Given the description of an element on the screen output the (x, y) to click on. 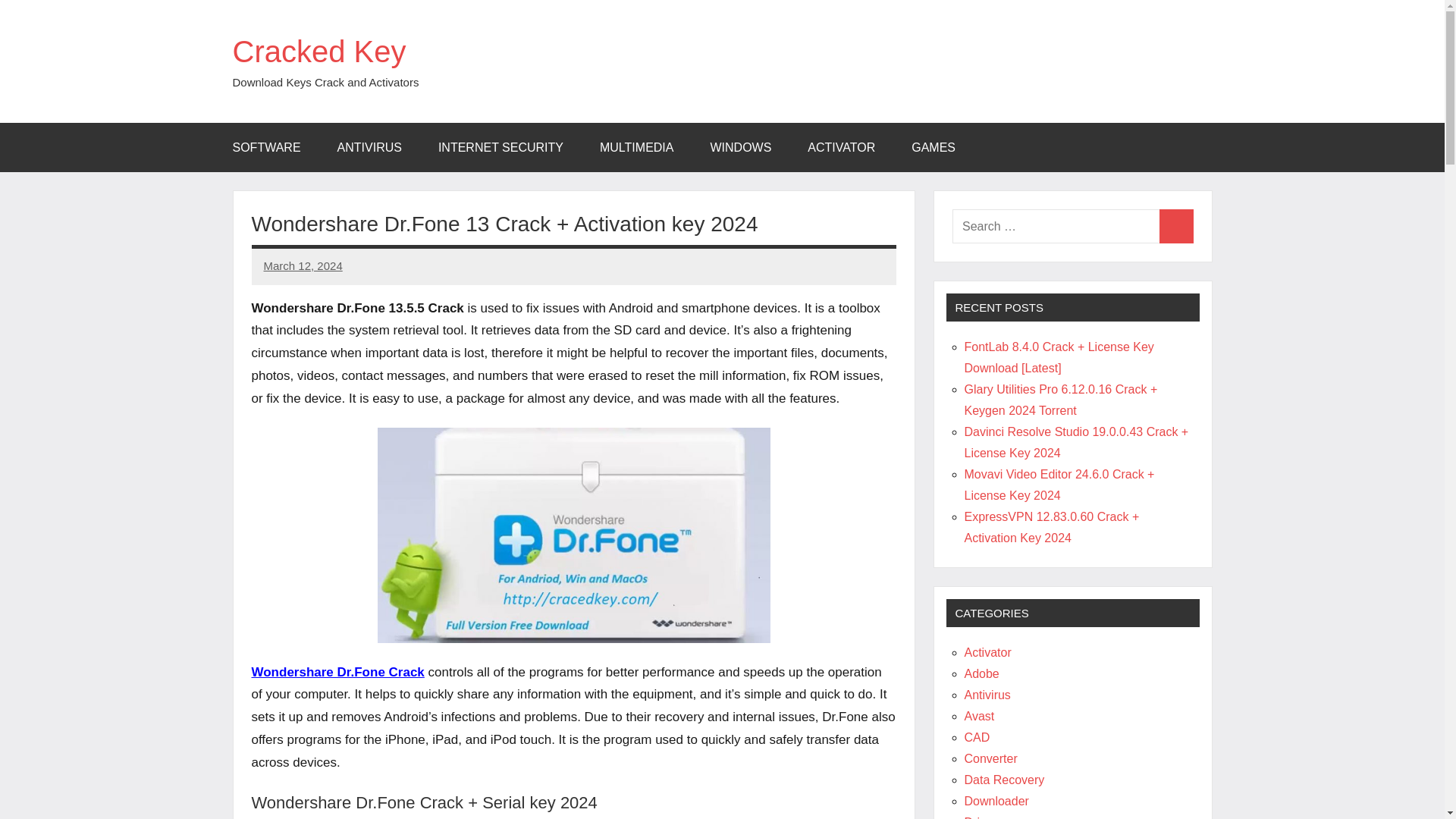
WINDOWS (740, 146)
Wondershare Dr.Fone Crack (338, 672)
ANTIVIRUS (369, 146)
MULTIMEDIA (635, 146)
Search for: (1056, 226)
INTERNET SECURITY (500, 146)
March 12, 2024 (302, 265)
ACTIVATOR (841, 146)
Cracked Key (318, 51)
GAMES (933, 146)
